Given the description of an element on the screen output the (x, y) to click on. 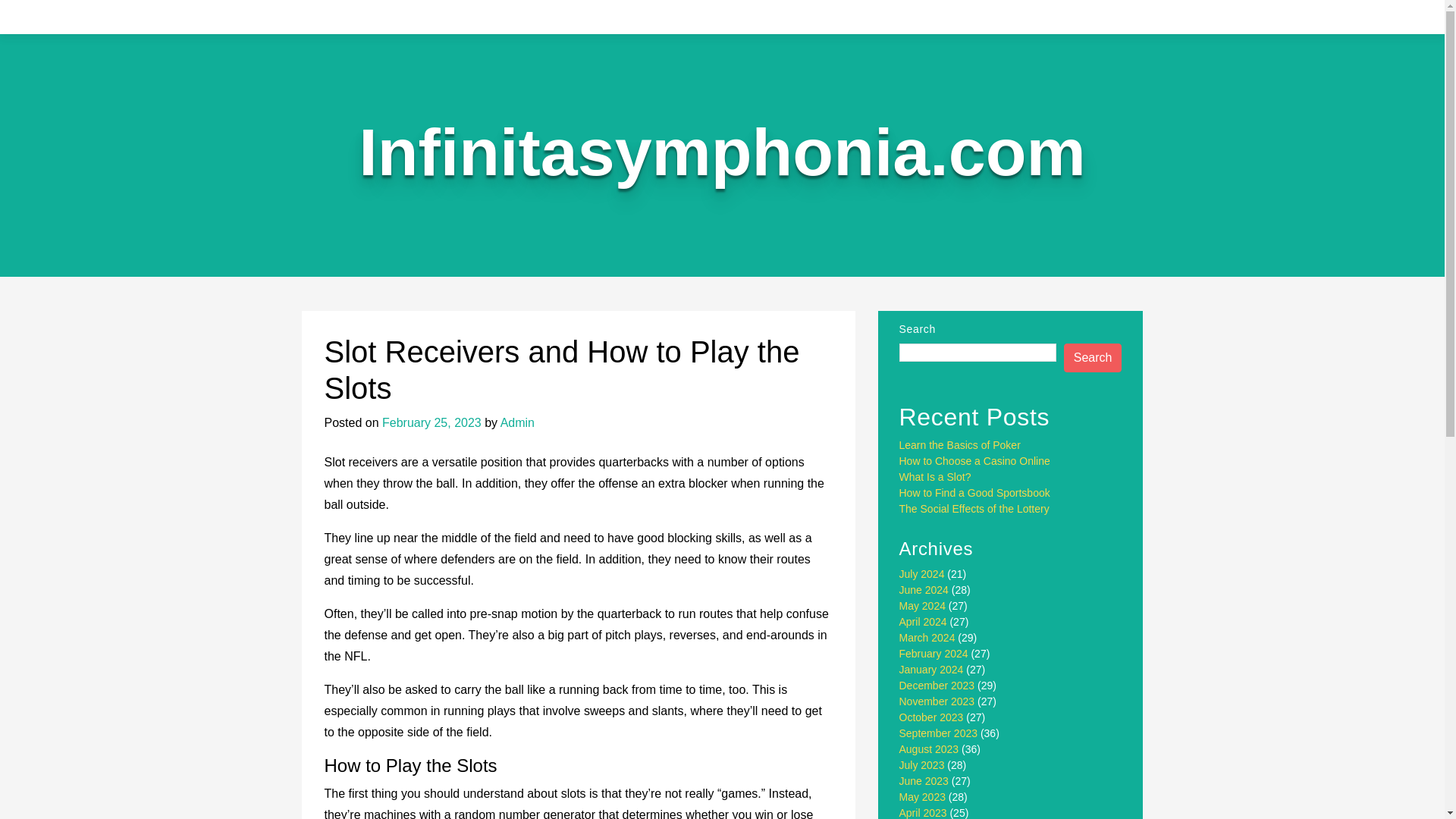
February 2024 (933, 653)
April 2023 (923, 812)
The Social Effects of the Lottery (974, 508)
Search (1093, 357)
February 25, 2023 (431, 422)
Learn the Basics of Poker (959, 444)
November 2023 (937, 701)
June 2024 (924, 589)
May 2024 (921, 605)
Admin (517, 422)
December 2023 (937, 685)
How to Find a Good Sportsbook (974, 492)
What Is a Slot? (935, 476)
How to Choose a Casino Online (974, 460)
October 2023 (931, 717)
